Given the description of an element on the screen output the (x, y) to click on. 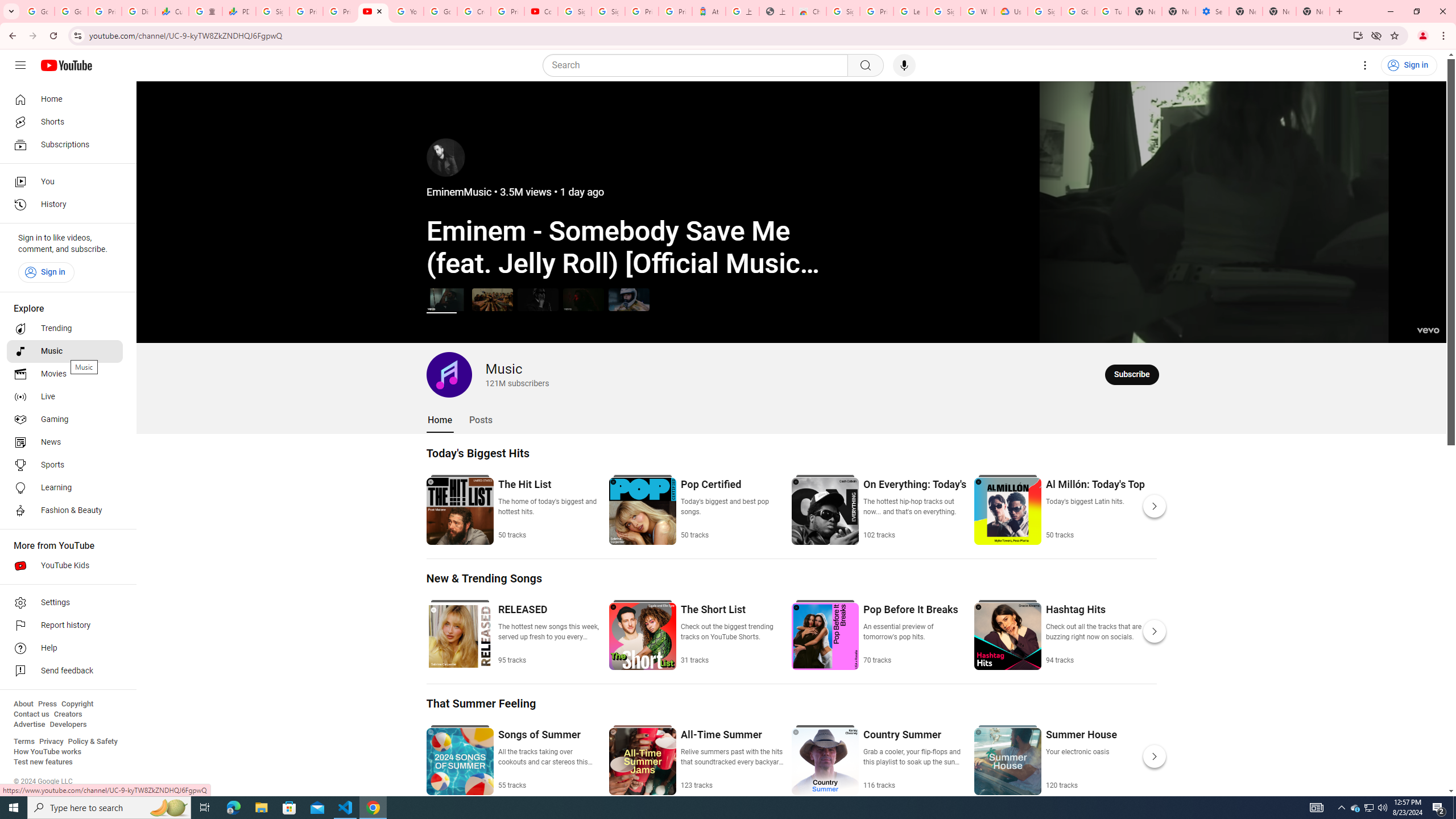
PDD Holdings Inc - ADR (PDD) Price & News - Google Finance (238, 11)
Sports (64, 464)
Music (64, 350)
Sign in - Google Accounts (943, 11)
Google Workspace Admin Community (37, 11)
Google Account Help (1077, 11)
Home (64, 99)
Contact us (31, 714)
Atour Hotel - Google hotels (708, 11)
Search with your voice (903, 65)
Sign in - Google Accounts (574, 11)
Install YouTube (1358, 35)
